Given the description of an element on the screen output the (x, y) to click on. 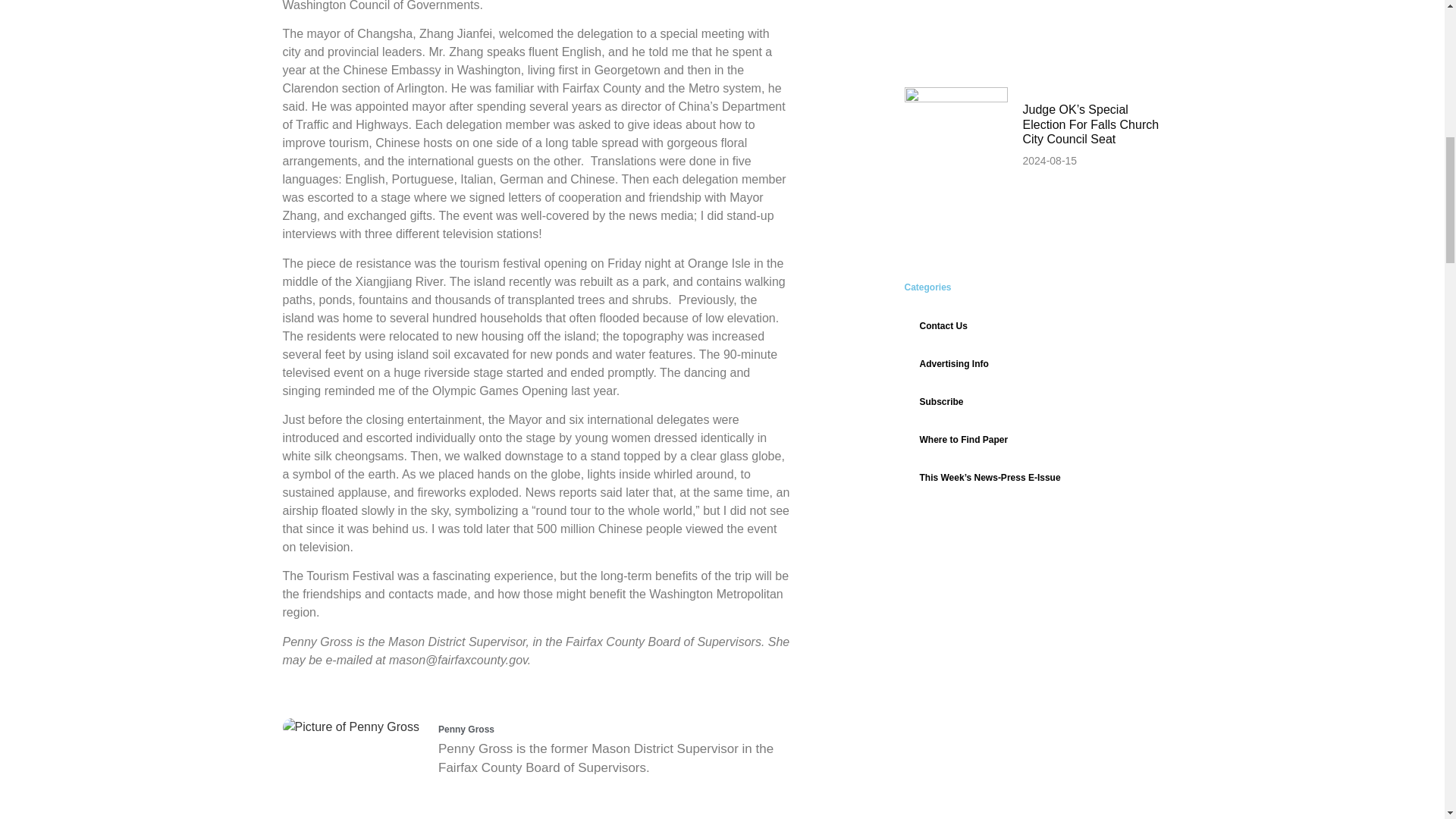
Contact Us (1032, 325)
Advertising Info (1032, 363)
Subscribe (1032, 401)
